Given the description of an element on the screen output the (x, y) to click on. 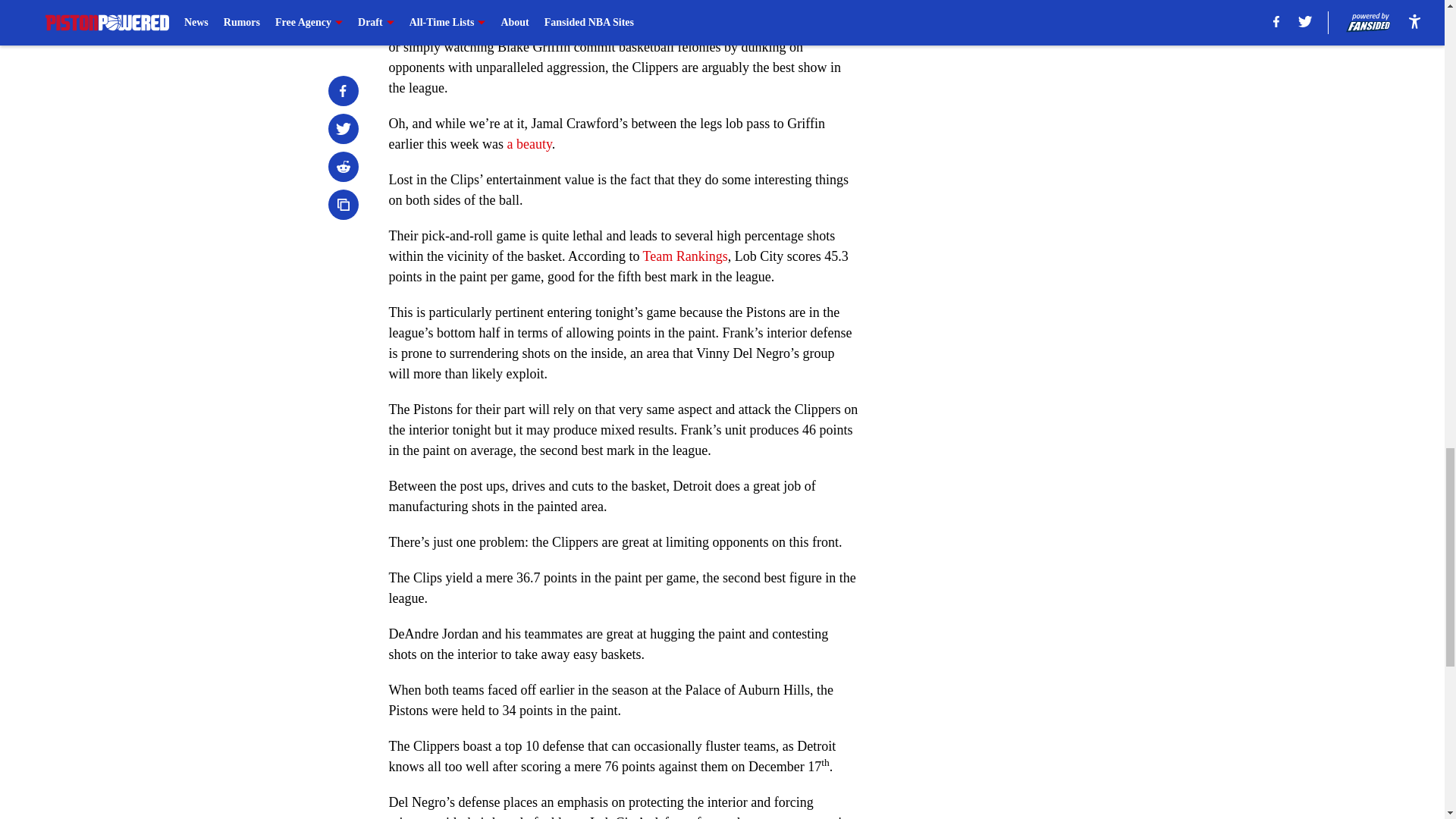
a beauty (528, 143)
Team Rankings (685, 255)
